Given the description of an element on the screen output the (x, y) to click on. 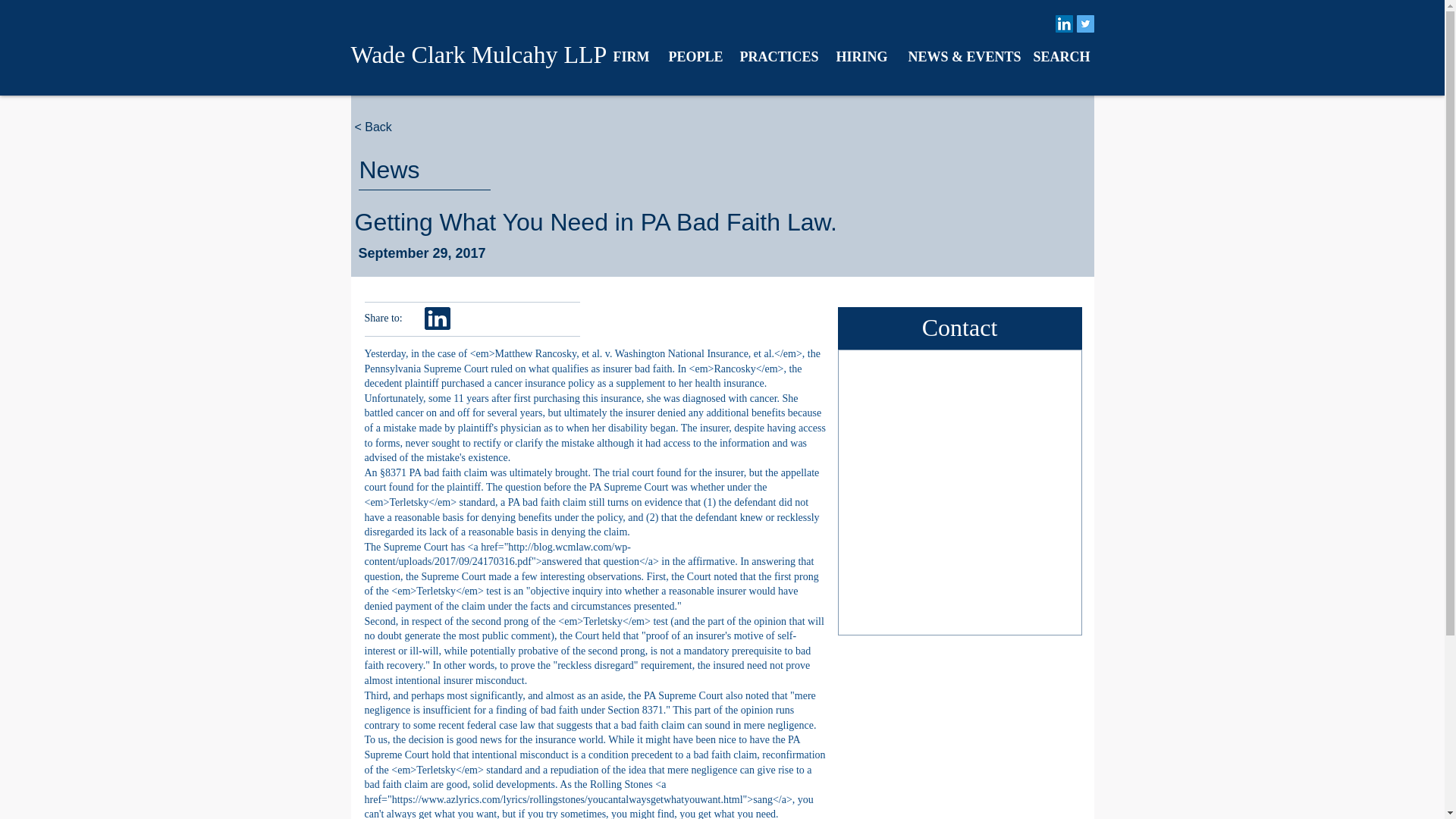
PEOPLE (692, 56)
Wade Clark Mulcahy LLP (478, 53)
PRACTICES (776, 56)
FIRM (630, 56)
HIRING (860, 56)
SEARCH (1059, 56)
